Given the description of an element on the screen output the (x, y) to click on. 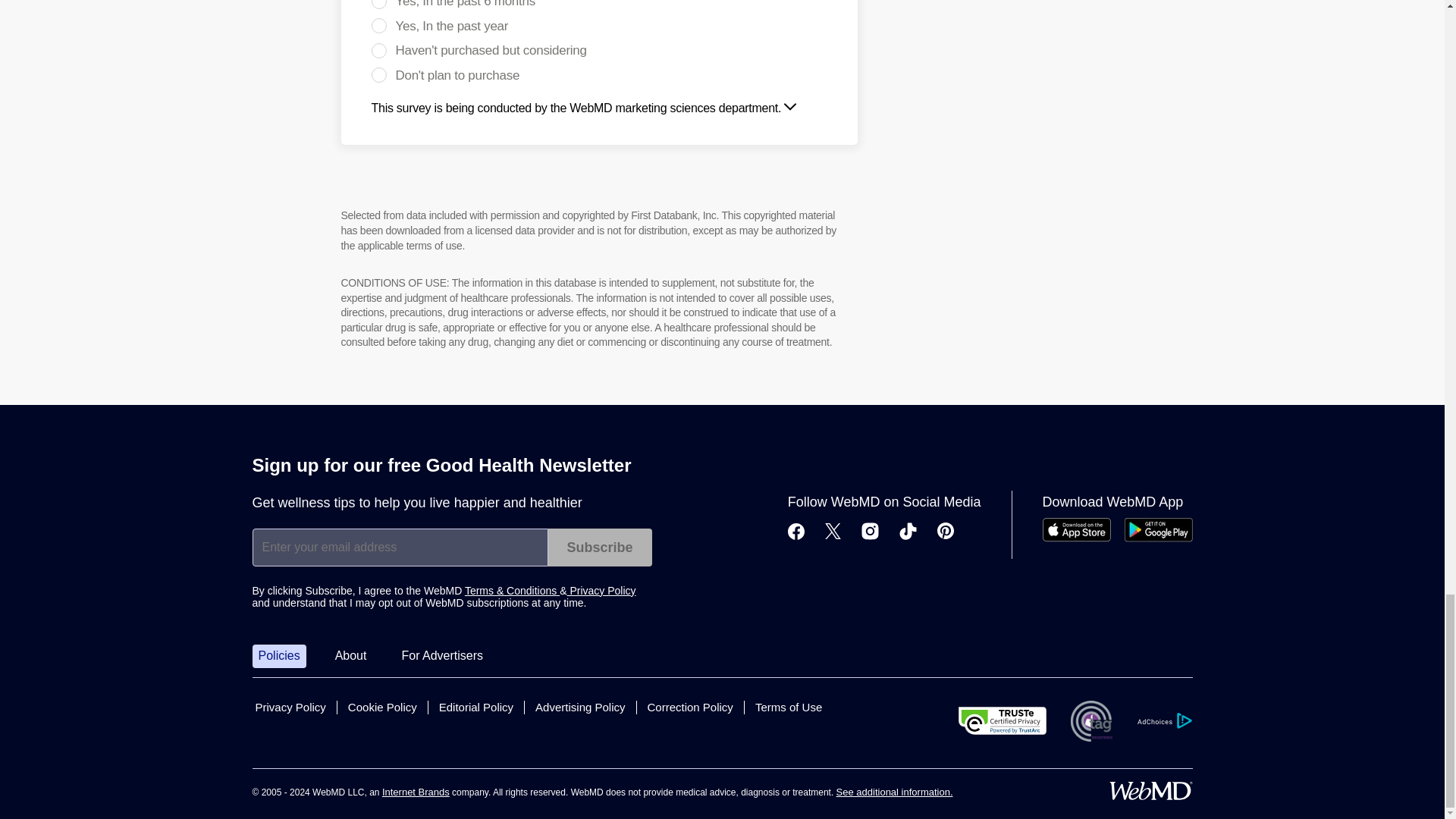
WebMD: Better information. Better health. (1150, 790)
Adchoices (1163, 720)
TAG Registered Seal (1091, 721)
TRUSTe Privacy Certification (1002, 720)
